Given the description of an element on the screen output the (x, y) to click on. 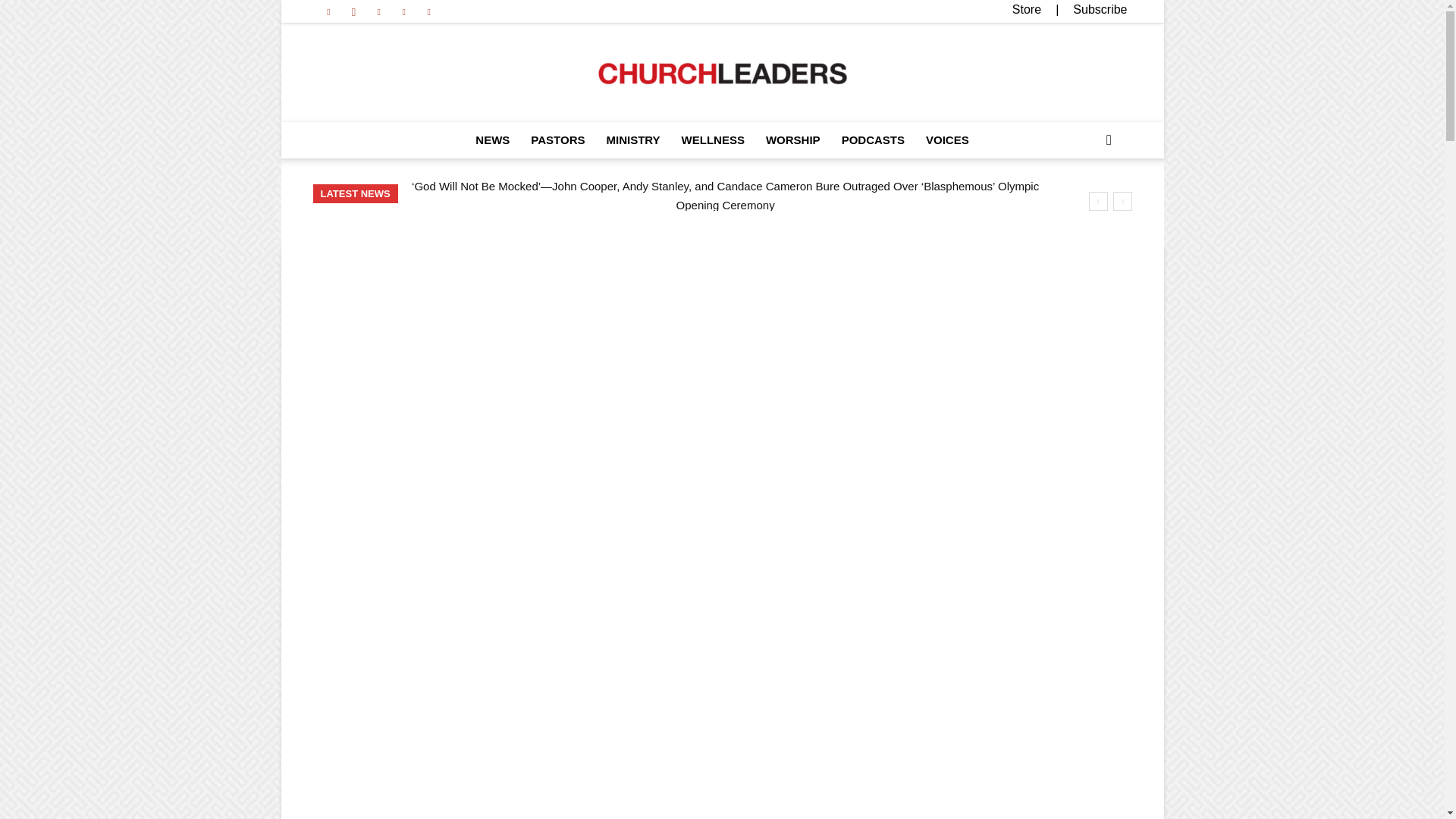
Twitter (403, 11)
NEWS (491, 140)
Subscribe (1099, 9)
ChurchLeaders Home (721, 73)
Store (1026, 9)
Youtube (429, 11)
Pinterest (379, 11)
Facebook (328, 11)
Instagram (353, 11)
ChurchLeaders (722, 73)
PASTORS (557, 140)
